Given the description of an element on the screen output the (x, y) to click on. 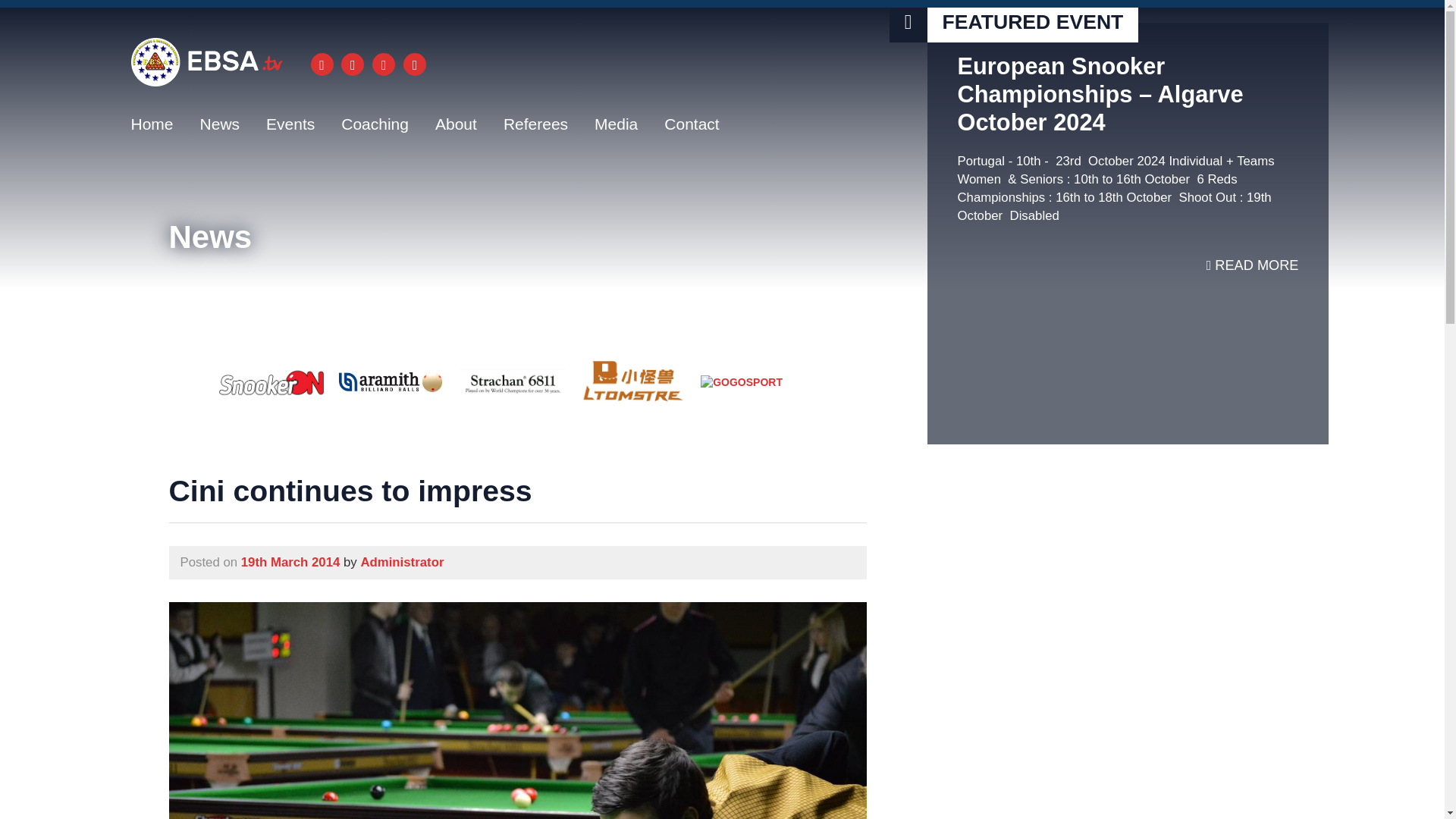
7:50 pm (290, 562)
View all posts by Administrator (401, 562)
